Given the description of an element on the screen output the (x, y) to click on. 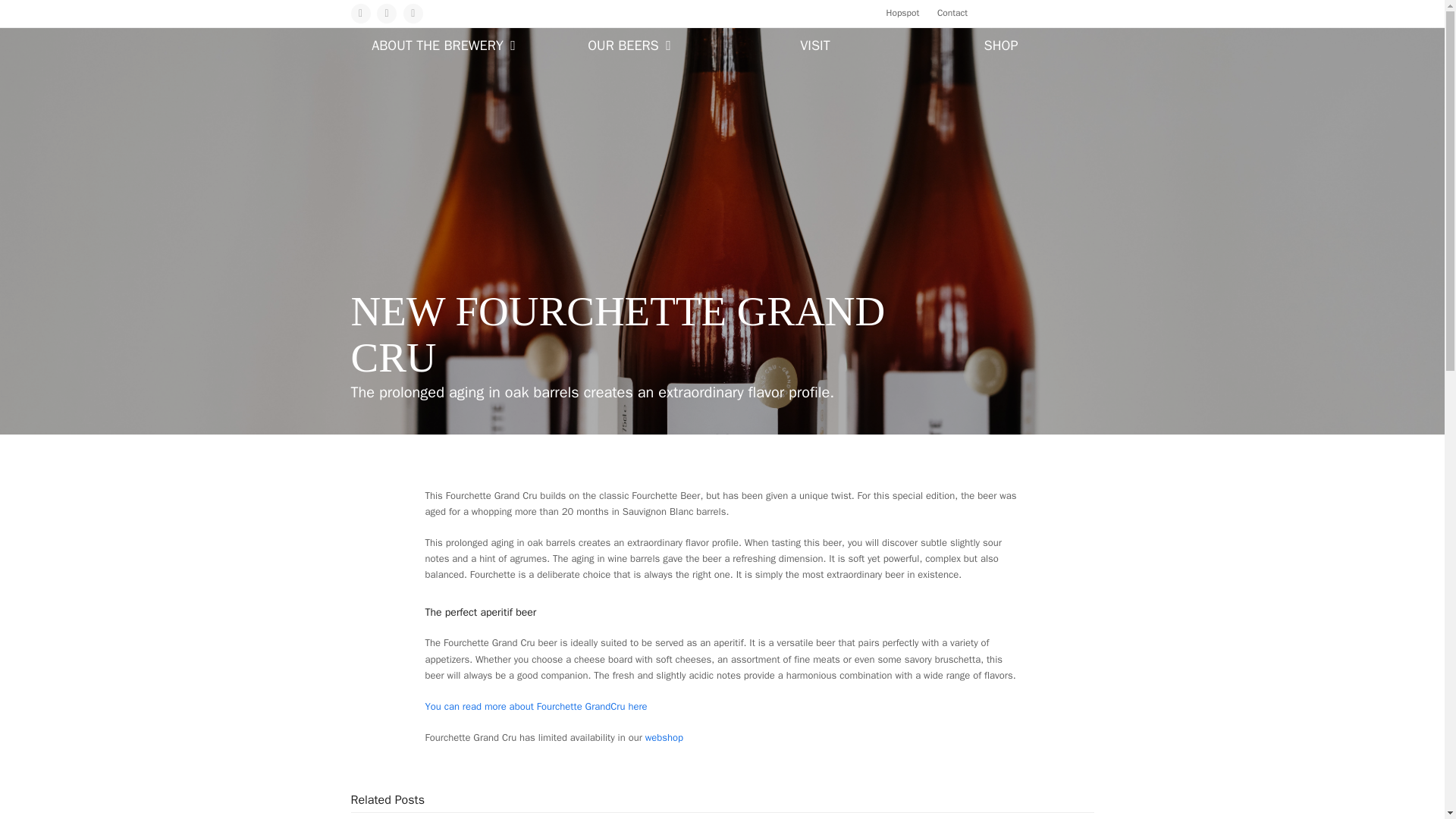
VISIT (814, 46)
Contact (952, 12)
OUR BEERS (629, 46)
You can read more about Fourchette GrandCru here (535, 706)
LinkedIn (413, 13)
Instagram (386, 13)
ABOUT THE BREWERY (442, 46)
Facebook (359, 13)
webshop (663, 737)
Hopspot (903, 12)
